Given the description of an element on the screen output the (x, y) to click on. 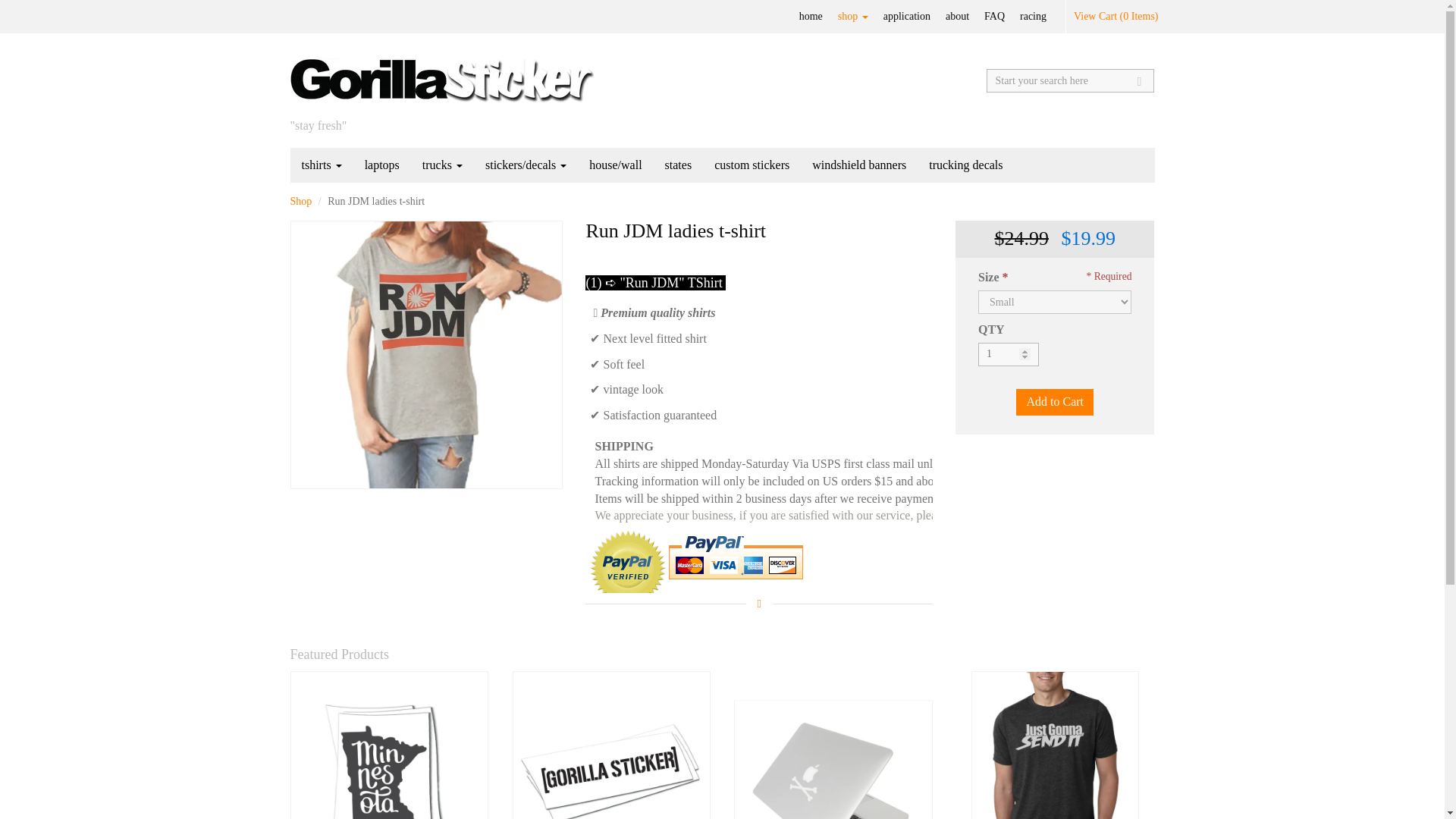
laptops (381, 165)
shop (852, 16)
racing (1032, 16)
1 (1008, 354)
FAQ (993, 16)
about (956, 16)
Credit or debit card through PayPal (736, 557)
trucks (442, 165)
Add to Cart (1054, 402)
home (810, 16)
tshirts (320, 165)
application (906, 16)
